Given the description of an element on the screen output the (x, y) to click on. 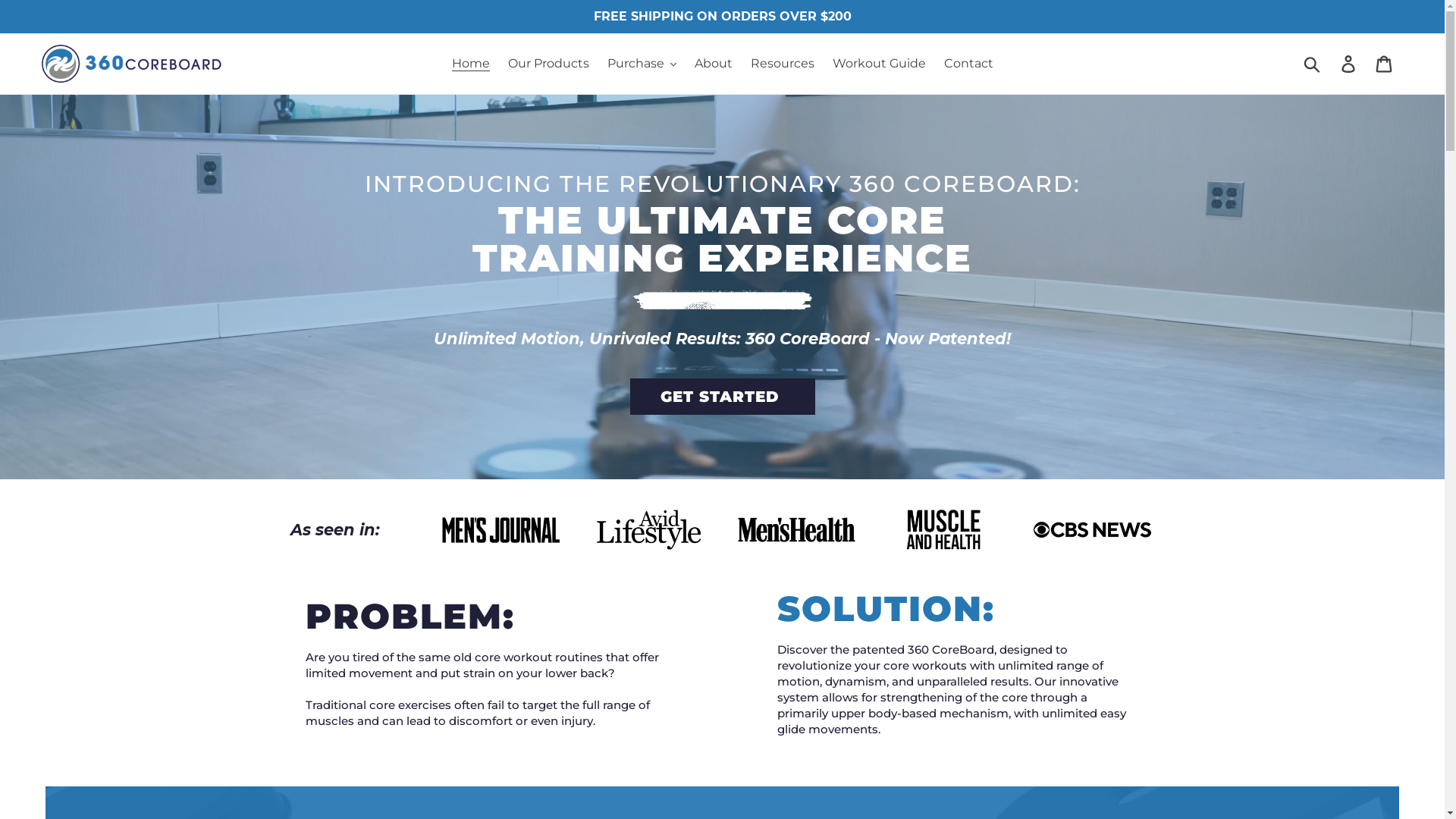
Cart Element type: text (1384, 63)
Resources Element type: text (782, 63)
Submit Element type: text (1312, 63)
Our Products Element type: text (548, 63)
Workout Guide Element type: text (879, 63)
About Element type: text (713, 63)
Home Element type: text (470, 63)
Log in Element type: text (1349, 63)
Contact Element type: text (967, 63)
GET STARTED  Element type: text (721, 396)
